Given the description of an element on the screen output the (x, y) to click on. 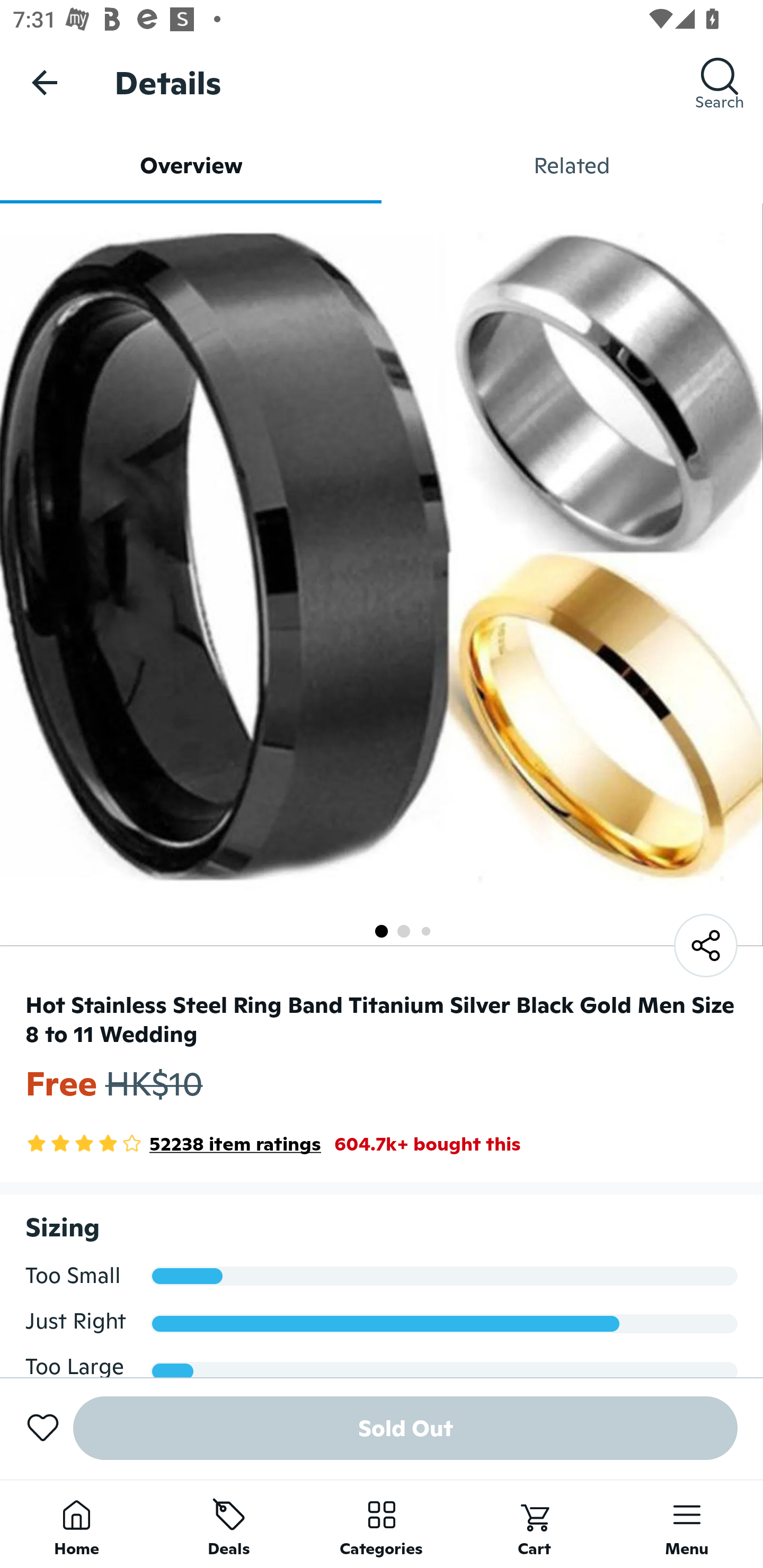
Navigate up (44, 82)
Search (719, 82)
Related (572, 165)
4.2 Star Rating 52238 item ratings (173, 1143)
Sold Out (405, 1428)
Home (76, 1523)
Deals (228, 1523)
Categories (381, 1523)
Cart (533, 1523)
Menu (686, 1523)
